Given the description of an element on the screen output the (x, y) to click on. 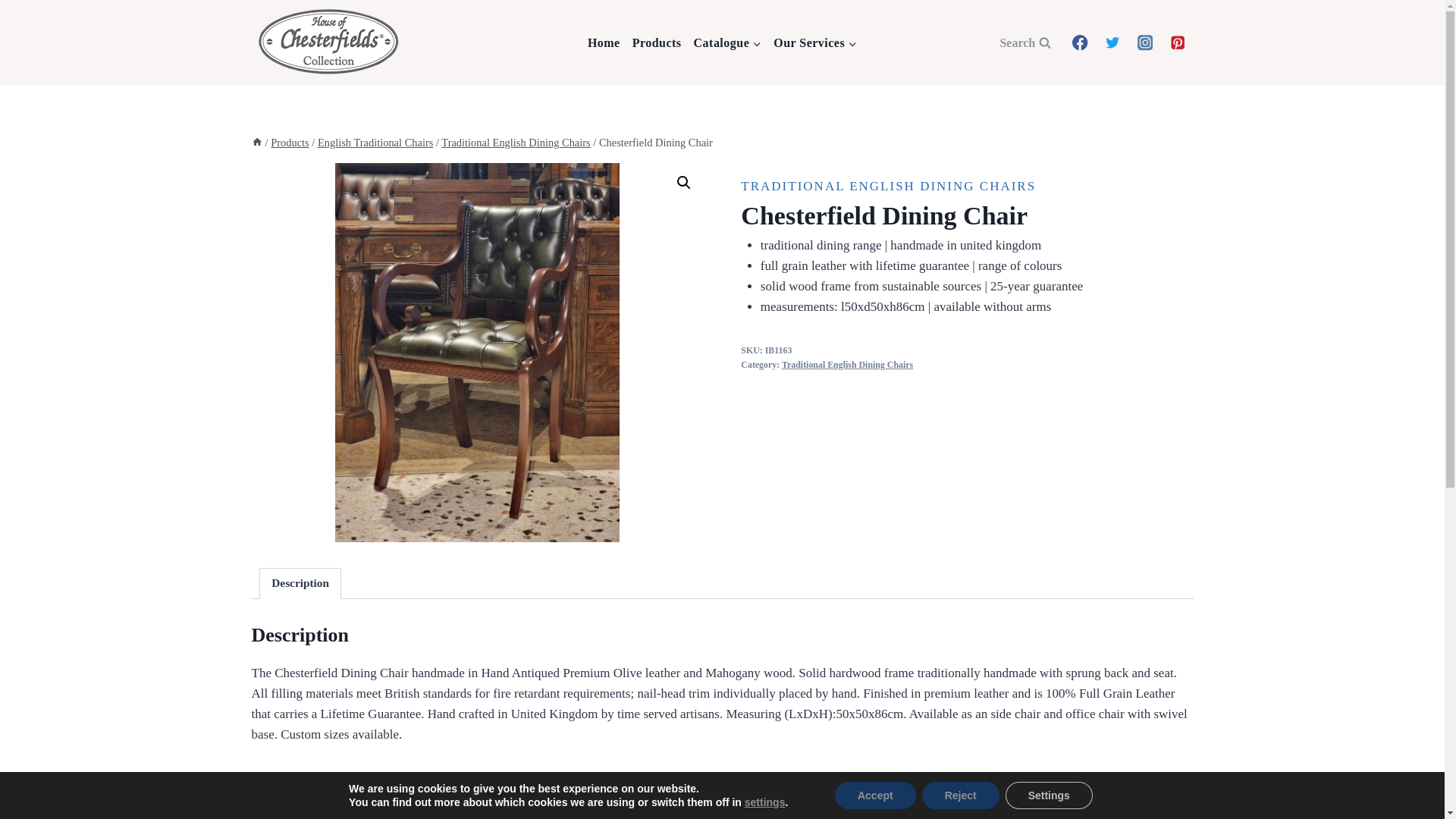
Home (603, 43)
Search (1024, 42)
Description (300, 583)
Traditional English Dining Chairs (515, 142)
Products (656, 43)
Products (289, 142)
English Traditional Chairs (374, 142)
Our Services (815, 43)
Catalogue (727, 43)
Traditional English Dining Chairs (846, 364)
TRADITIONAL ENGLISH DINING CHAIRS (888, 186)
